Given the description of an element on the screen output the (x, y) to click on. 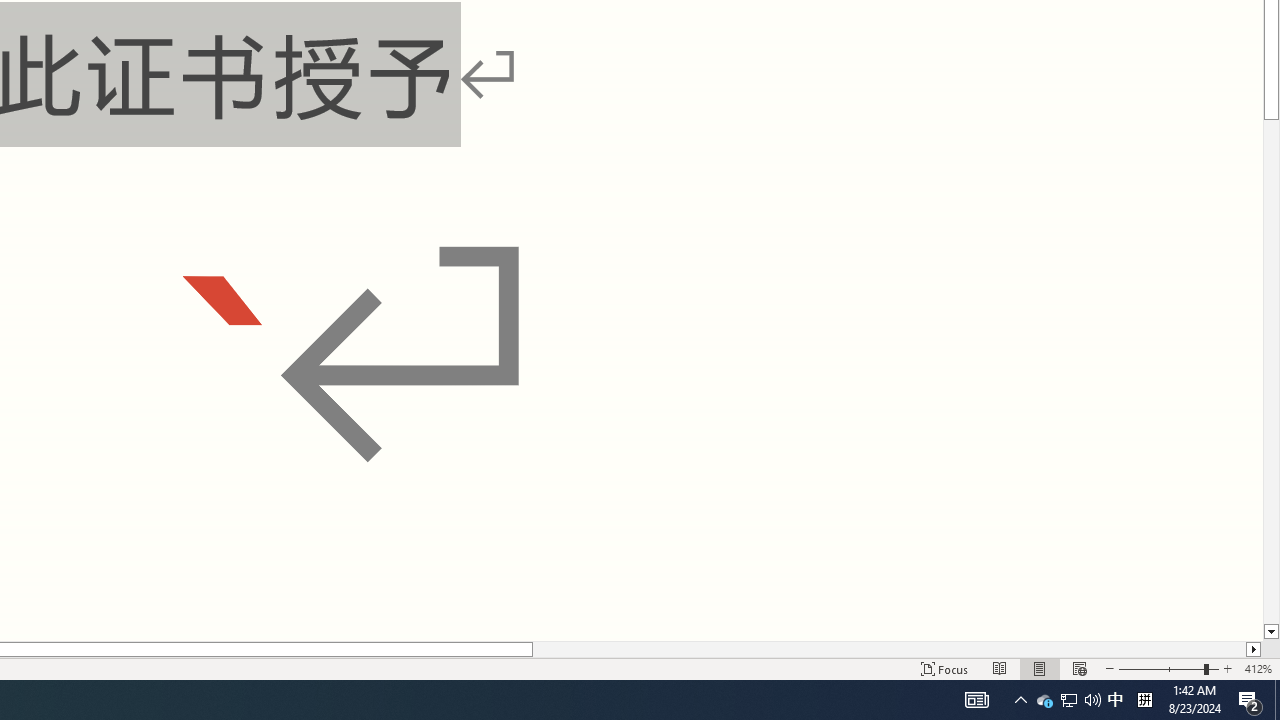
Line down (1271, 632)
Page right (888, 649)
Zoom (1168, 668)
Column right (1254, 649)
Page down (1271, 372)
Zoom 412% (1258, 668)
